Given the description of an element on the screen output the (x, y) to click on. 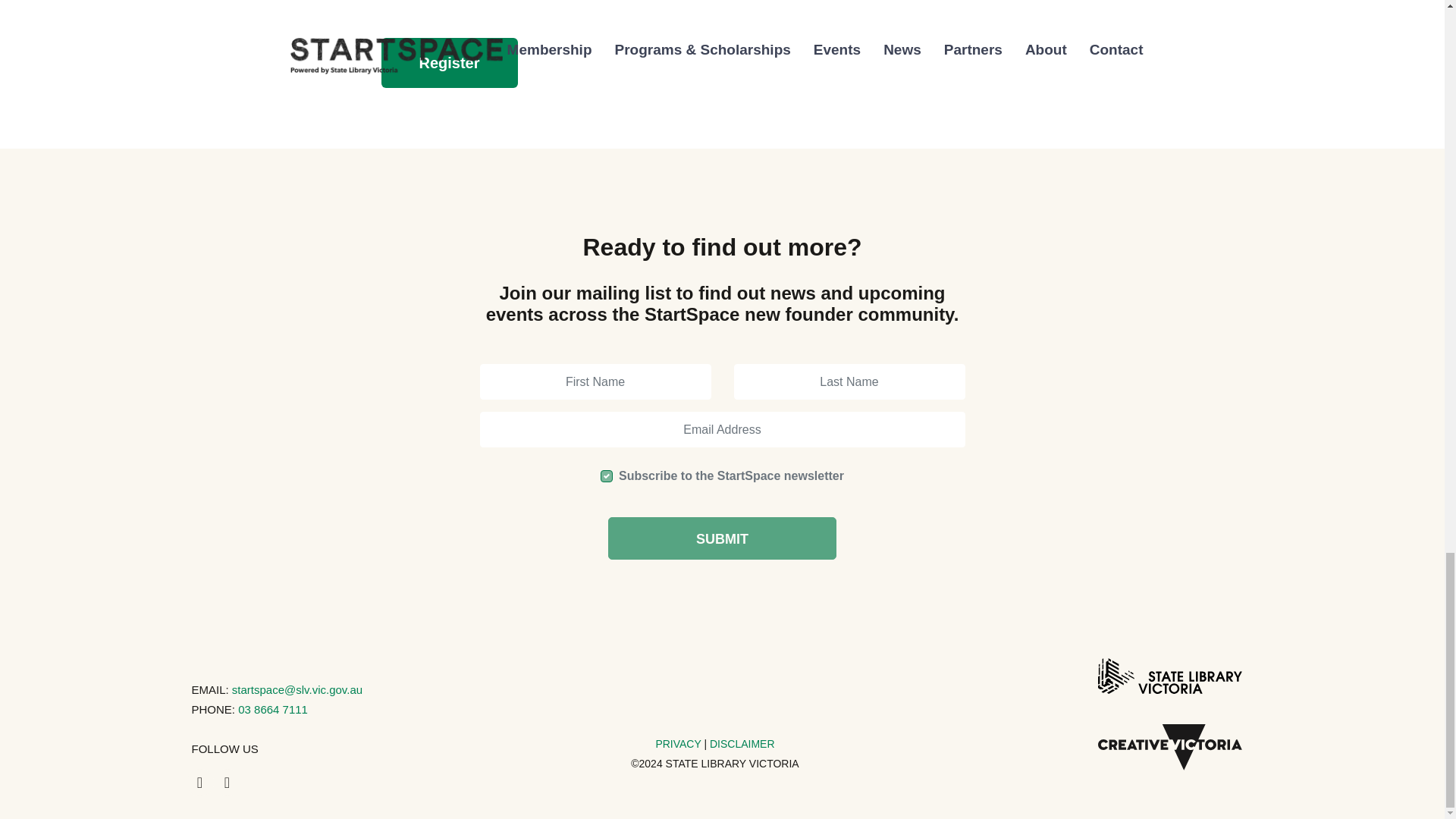
03 8664 7111 (272, 708)
Register (448, 62)
SUBMIT (721, 537)
